Given the description of an element on the screen output the (x, y) to click on. 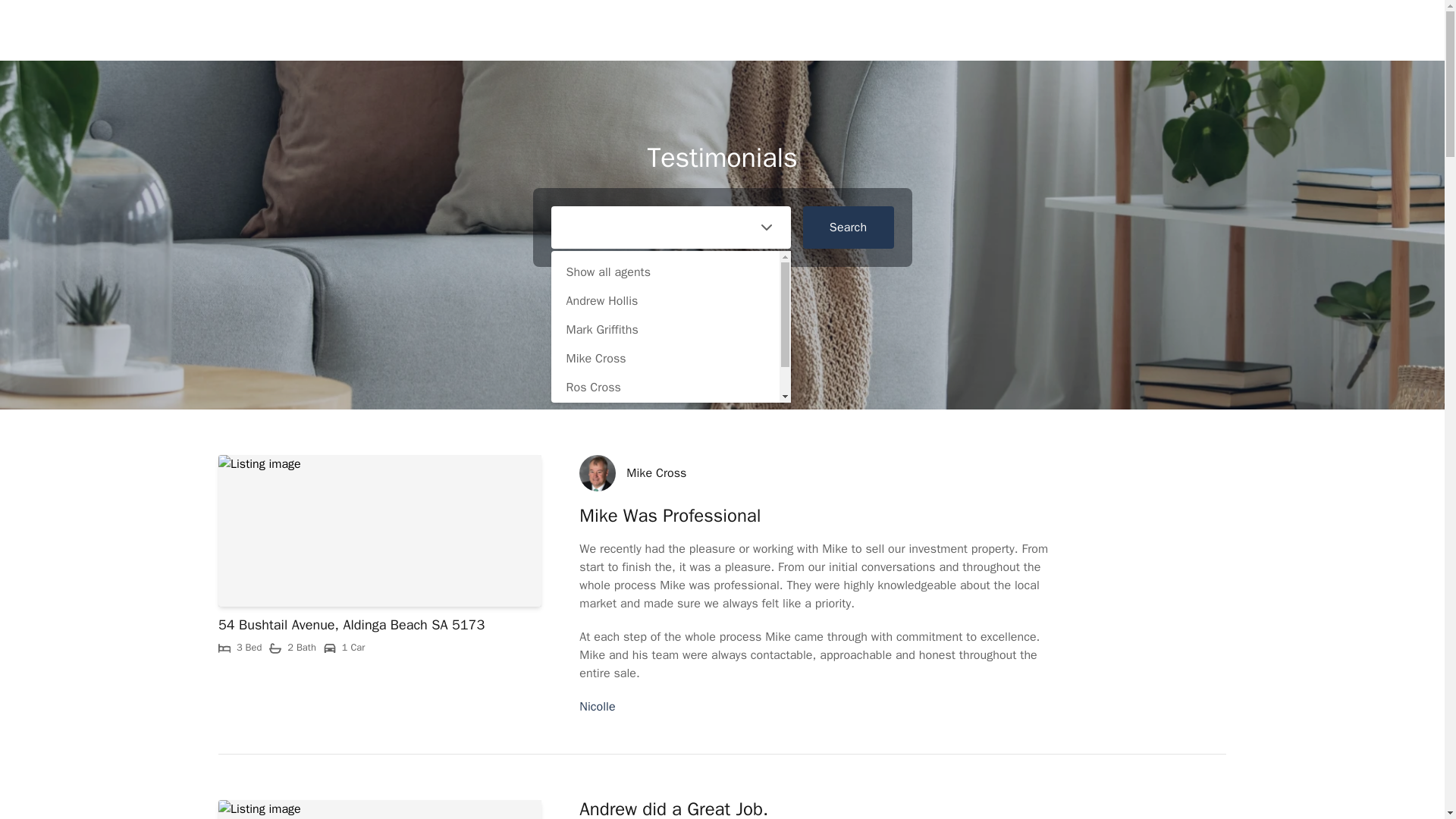
Mike Cross (655, 473)
Search (847, 227)
Search (847, 227)
54 Bushtail Avenue, Aldinga Beach SA 5173 (351, 624)
